Given the description of an element on the screen output the (x, y) to click on. 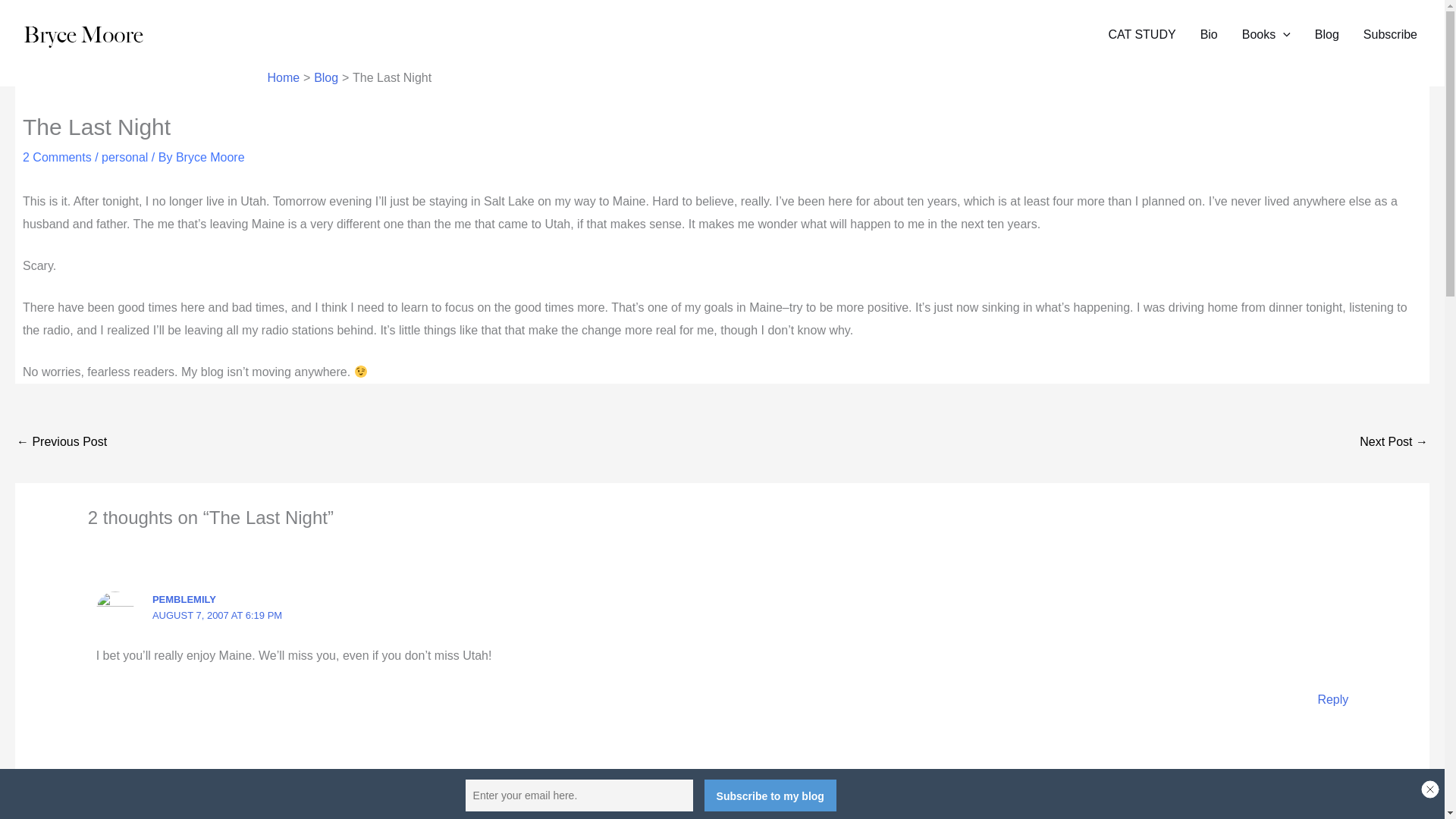
View all posts by Bryce Moore (210, 156)
CAT STUDY (1142, 34)
Blog (1327, 34)
You Underestimate the Power of . . . (1393, 443)
Home (282, 77)
PEMBLEMILY (183, 598)
Reply (1332, 698)
Bryce Moore (210, 156)
AUGUST 7, 2007 AT 6:19 PM (217, 614)
Books (1266, 34)
